Given the description of an element on the screen output the (x, y) to click on. 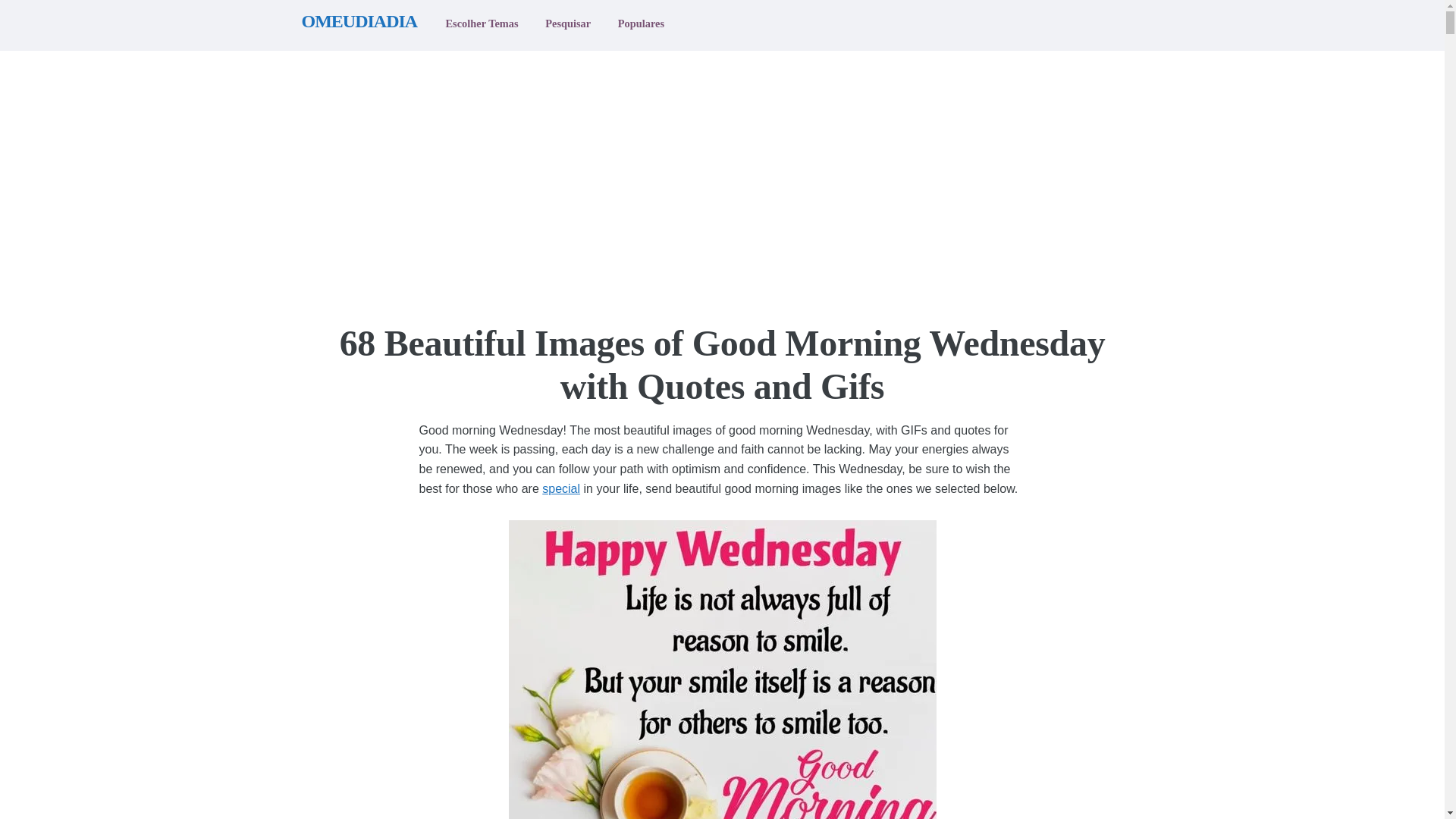
Pesquisar (567, 23)
Populares (640, 23)
OMEUDIADIA (362, 21)
special (560, 488)
Escolher Temas (481, 23)
